Given the description of an element on the screen output the (x, y) to click on. 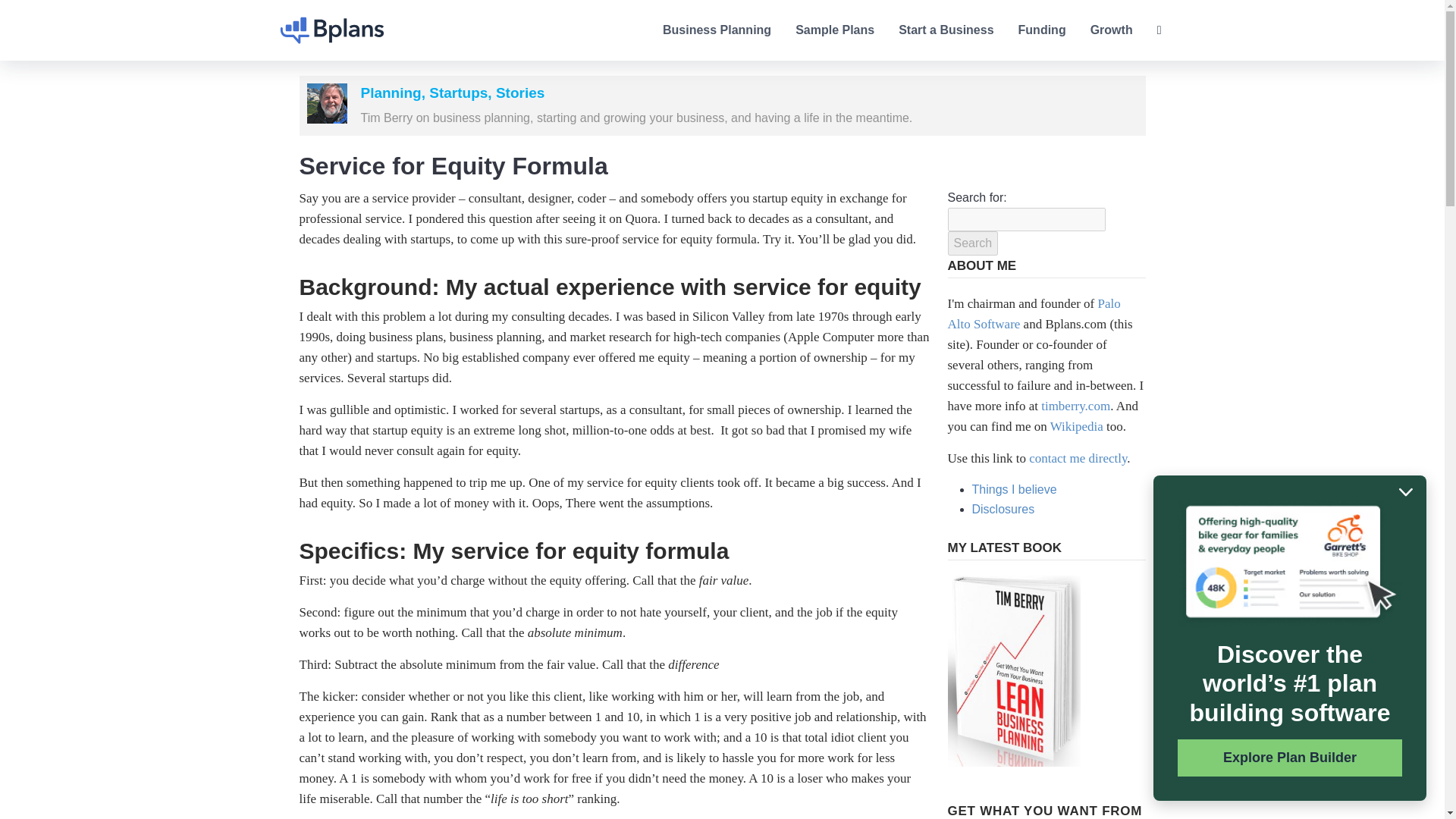
Tim Berry (325, 103)
Growth (1111, 29)
Business Planning (716, 29)
Search (972, 242)
Sample Plans (834, 29)
Start a Business (945, 29)
Funding (1041, 29)
Bplans logo (332, 30)
LivePlan pitch example (1289, 563)
